Given the description of an element on the screen output the (x, y) to click on. 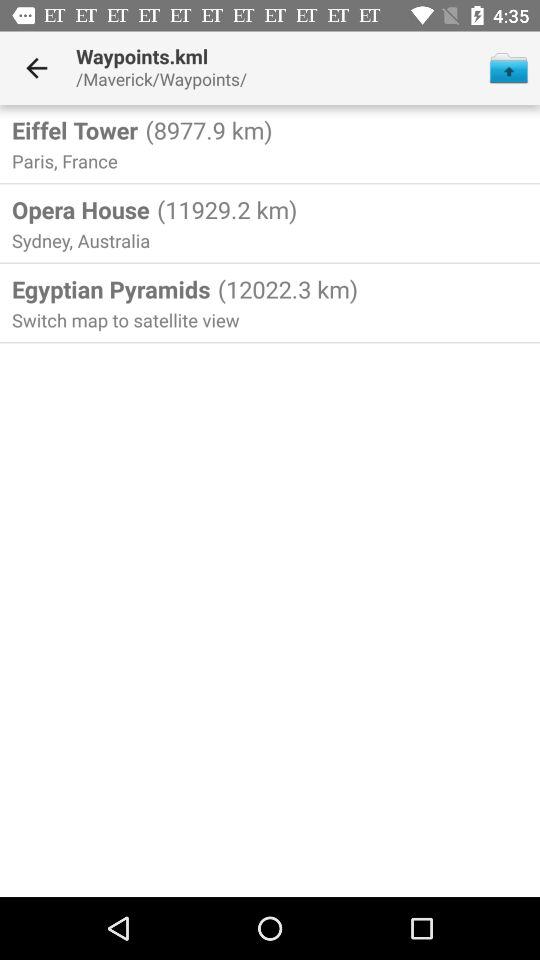
launch the icon above eiffel tower item (36, 68)
